Given the description of an element on the screen output the (x, y) to click on. 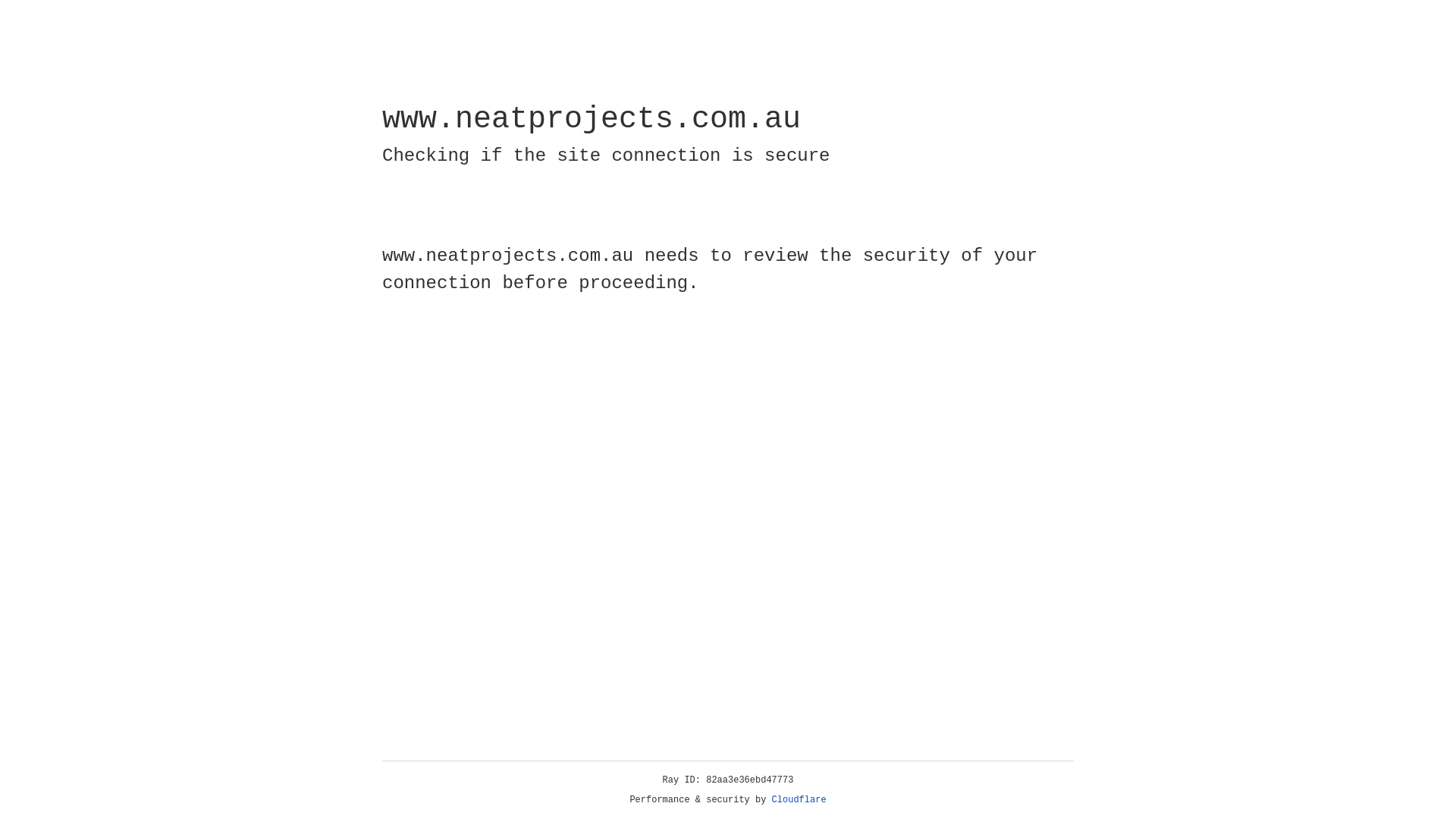
Cloudflare Element type: text (798, 799)
